Given the description of an element on the screen output the (x, y) to click on. 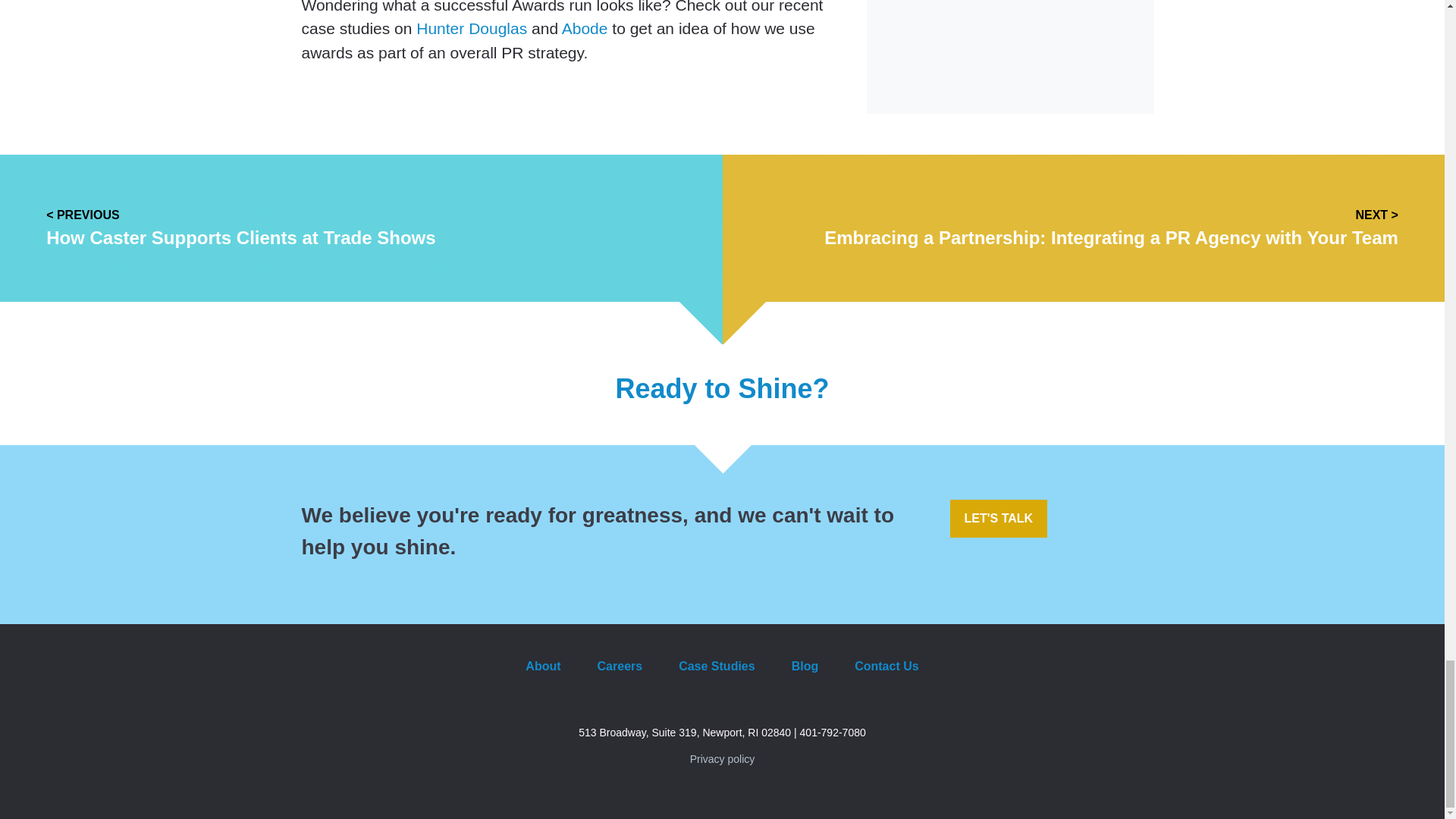
Hunter Douglas (471, 27)
Abode (585, 27)
